Given the description of an element on the screen output the (x, y) to click on. 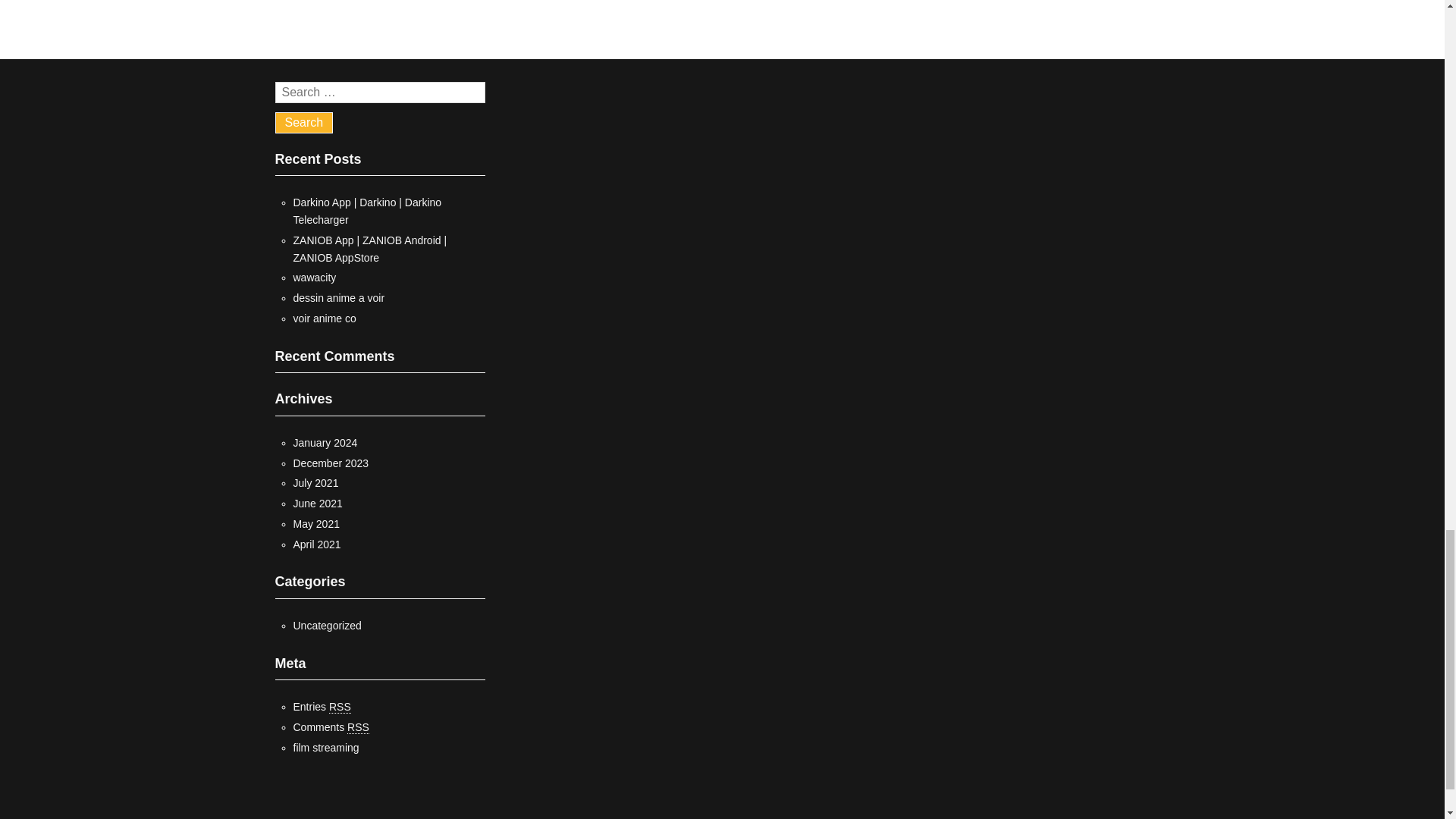
July 2021 (314, 482)
voir anime co (323, 318)
Search (304, 122)
Really Simple Syndication (339, 707)
May 2021 (315, 523)
June 2021 (317, 503)
Really Simple Syndication (358, 727)
Search (304, 122)
Uncategorized (326, 625)
dessin anime a voir (338, 297)
